Given the description of an element on the screen output the (x, y) to click on. 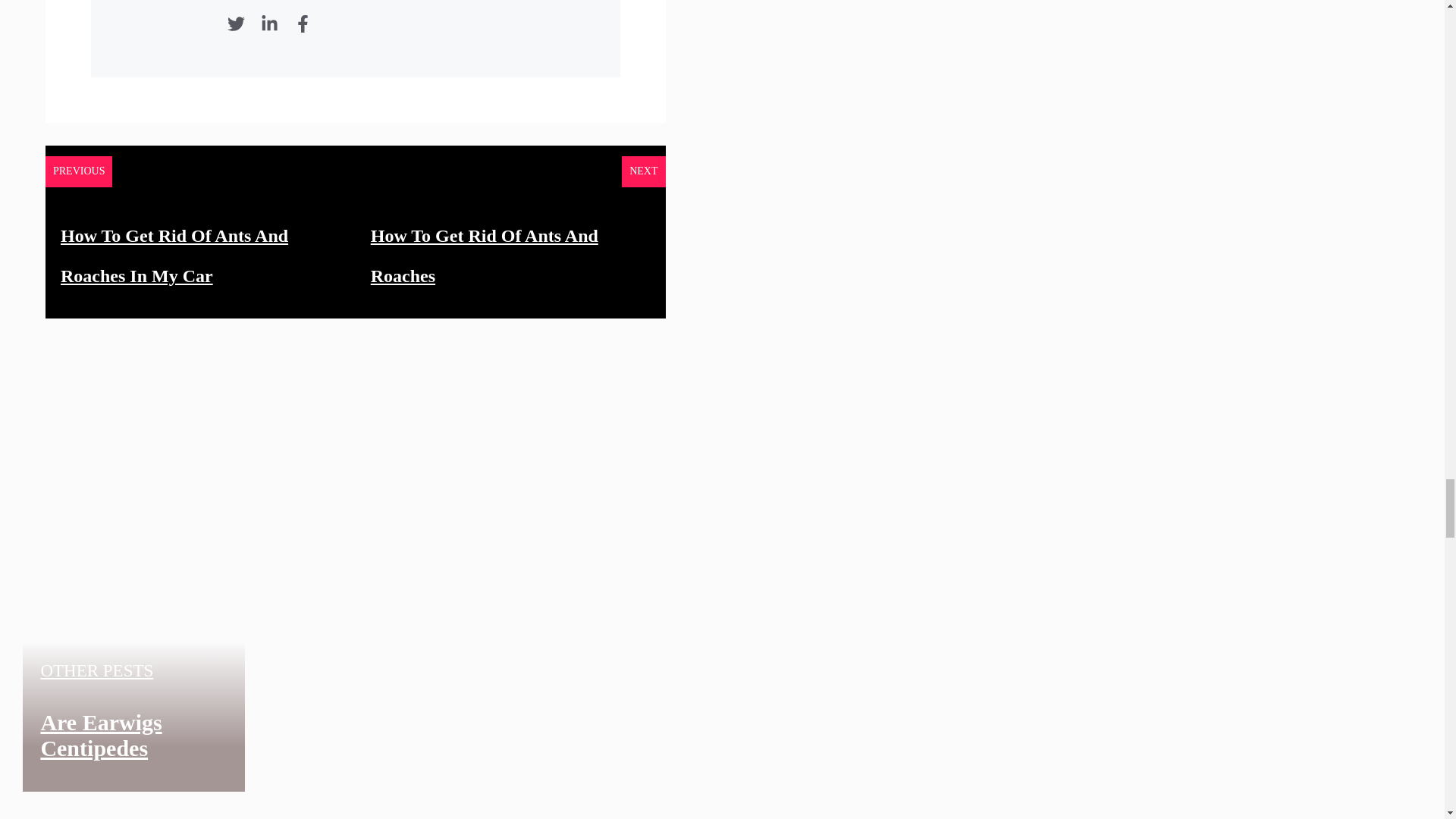
OTHER PESTS (96, 670)
Are Earwigs Centipedes (100, 735)
How To Get Rid Of Ants And Roaches In My Car (174, 255)
Are Earwigs Centipedes (404, 771)
How To Get Rid Of Ants And Roaches (484, 255)
